Given the description of an element on the screen output the (x, y) to click on. 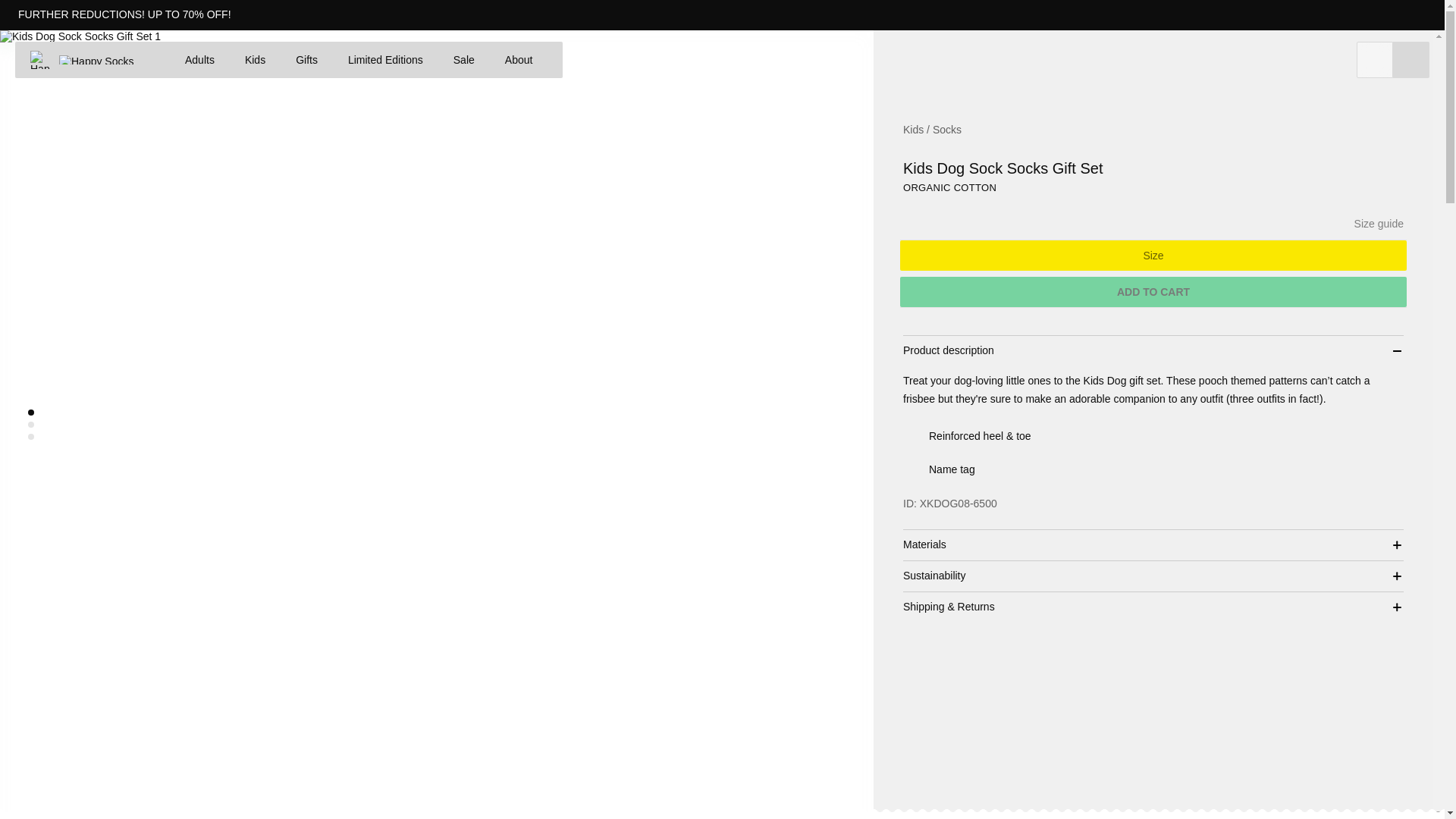
Gifts (307, 59)
Kids (255, 59)
Sale (463, 59)
About (518, 59)
Limited Editions (385, 59)
Adults (200, 59)
Size guide (1378, 224)
